Given the description of an element on the screen output the (x, y) to click on. 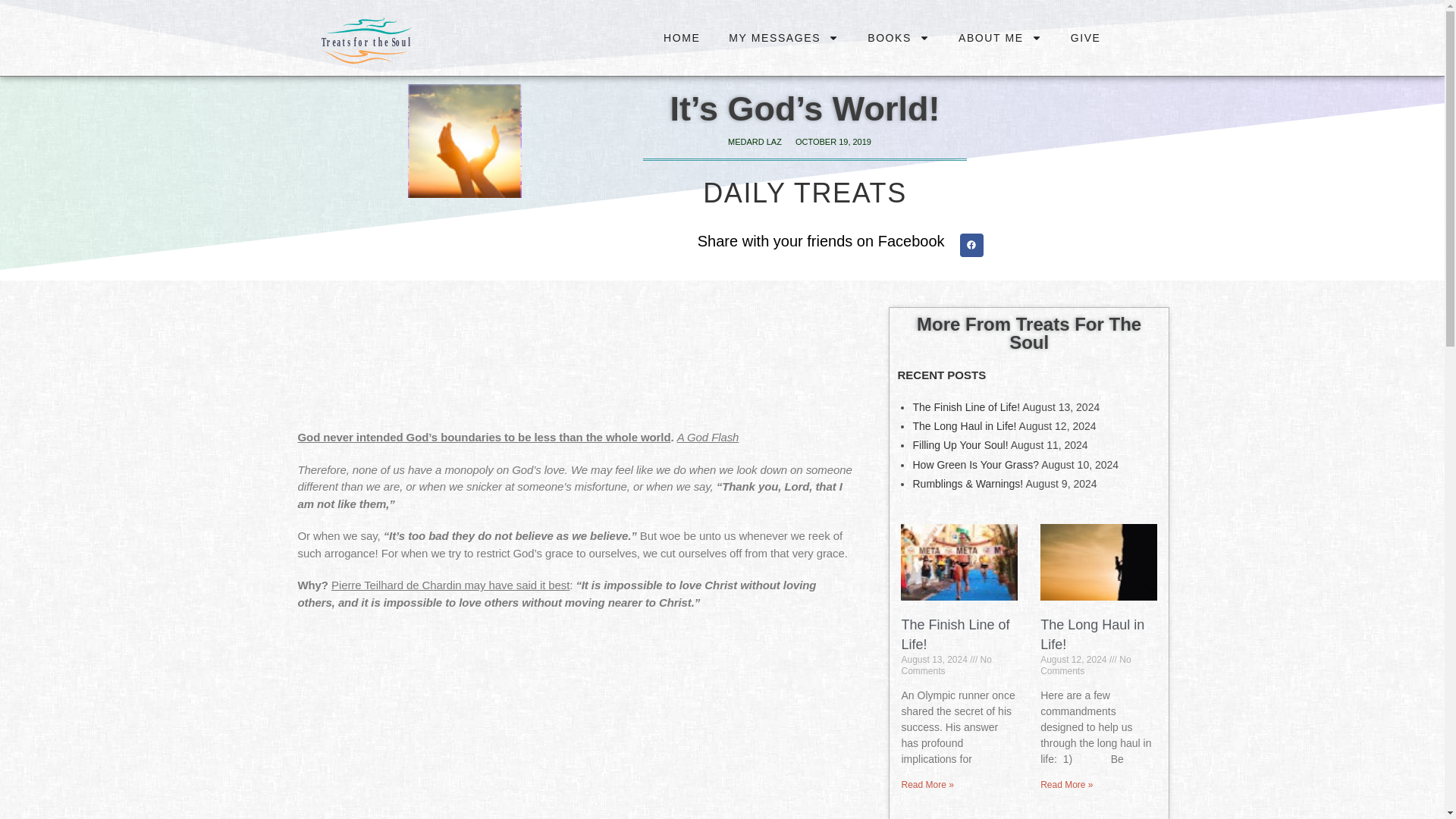
MY MESSAGES (783, 38)
BOOKS (898, 38)
ABOUT ME (1000, 38)
